Given the description of an element on the screen output the (x, y) to click on. 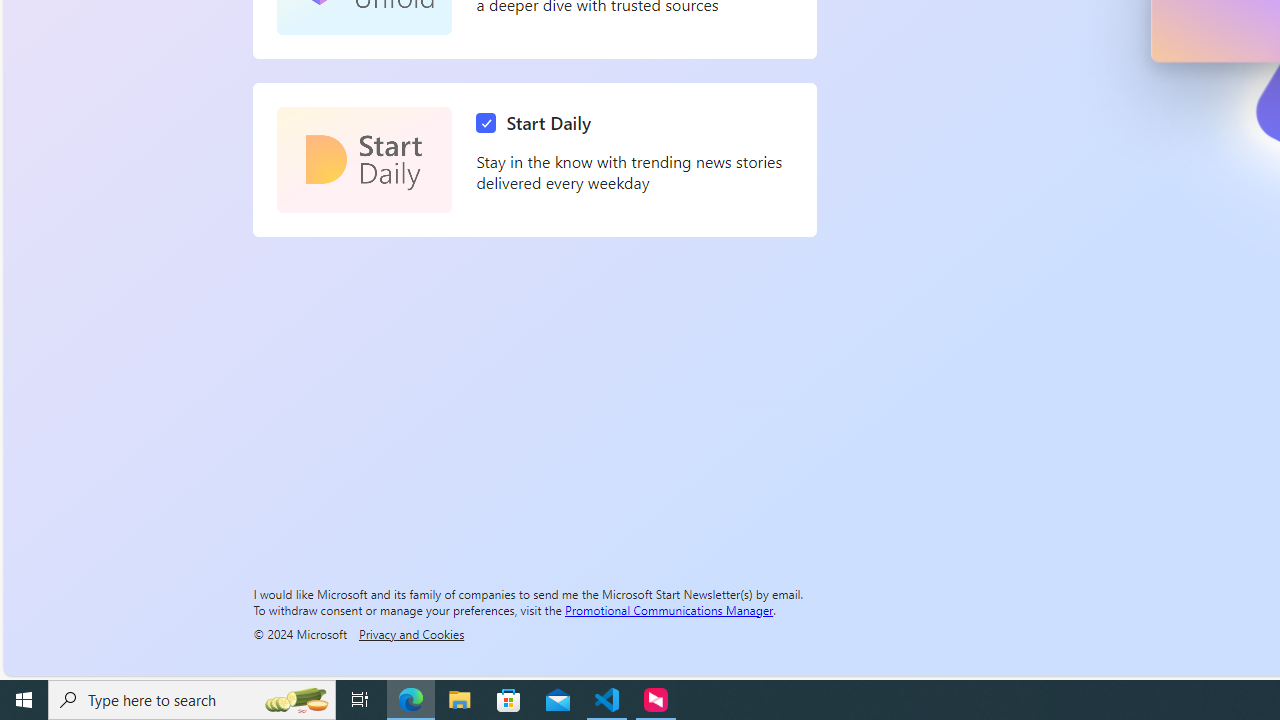
Start Daily (364, 160)
Privacy and Cookies (411, 633)
Start Daily (538, 123)
Promotional Communications Manager (669, 609)
